Given the description of an element on the screen output the (x, y) to click on. 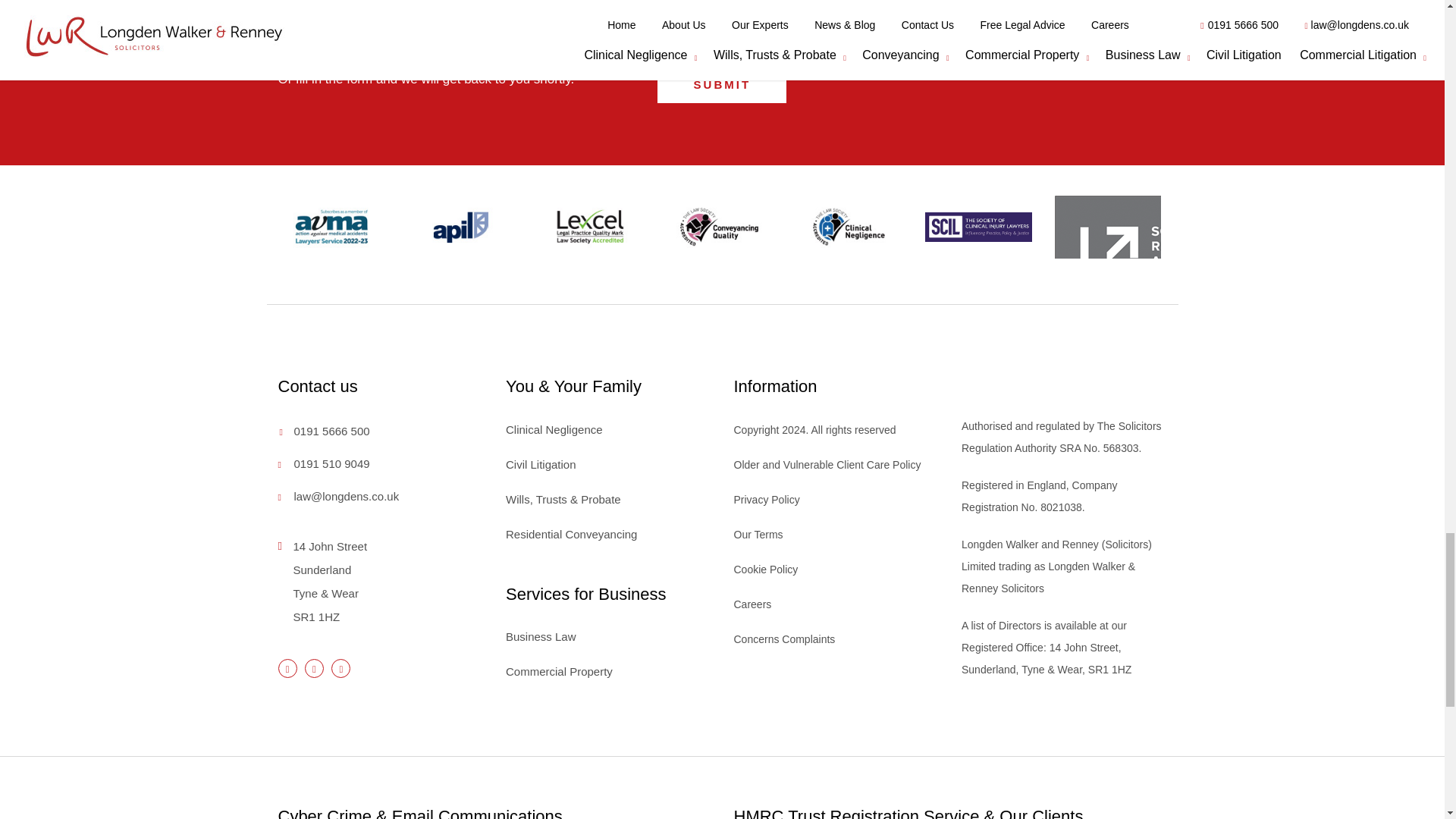
Submit (722, 84)
